Given the description of an element on the screen output the (x, y) to click on. 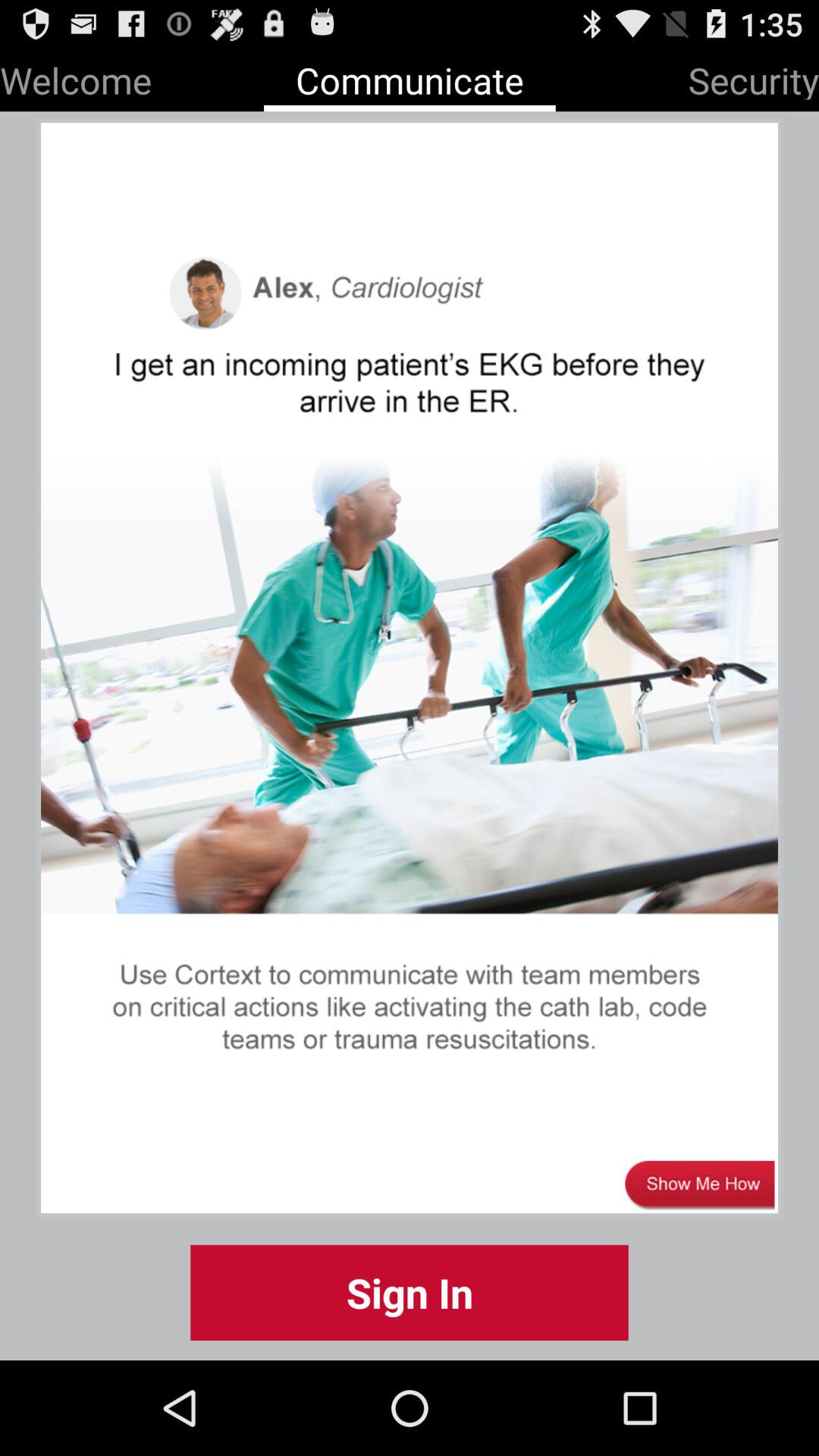
choose the app to the right of the communicate icon (753, 77)
